Given the description of an element on the screen output the (x, y) to click on. 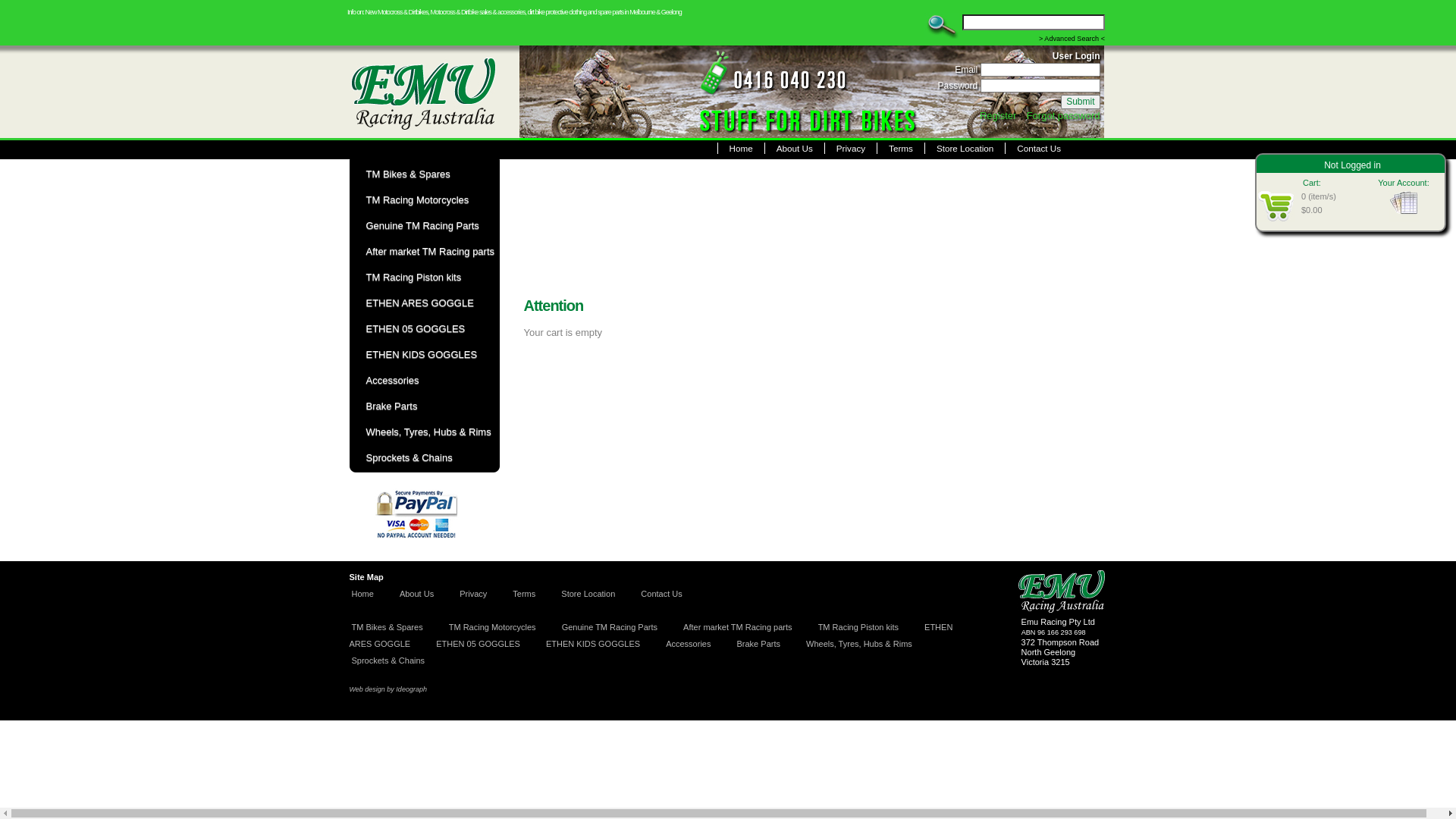
Store Location Element type: text (588, 601)
Sprockets & Chains Element type: text (388, 667)
Accessories Element type: text (422, 380)
Home Element type: text (362, 601)
online accessories and parts for dirt bikes Element type: hover (433, 92)
Wheels, Tyres, Hubs & Rims Element type: text (422, 431)
Accessories Element type: text (687, 651)
Register Element type: text (997, 115)
About Us Element type: text (416, 601)
Genuine TM Racing Parts Element type: text (422, 225)
ETHEN KIDS GOGGLES Element type: text (593, 651)
After market TM Racing parts Element type: text (422, 251)
Store Location Element type: text (964, 147)
Submit Element type: text (1079, 101)
> Advanced Search < Element type: text (1071, 38)
Privacy Element type: text (472, 601)
TM Racing Piston kits Element type: text (858, 634)
About Us Element type: text (794, 147)
ETHEN ARES GOGGLE Element type: text (650, 642)
Contact Us Element type: text (660, 601)
Home Element type: text (740, 147)
ETHEN 05 GOGGLES Element type: text (422, 328)
ETHEN ARES GOGGLE Element type: text (422, 302)
TM Bikes & Spares Element type: text (387, 634)
online accessories and parts for motocross bikes Element type: hover (718, 92)
Brake Parts Element type: text (758, 651)
TM Racing Motorcycles Element type: text (492, 634)
Wheels, Tyres, Hubs & Rims Element type: text (859, 651)
Genuine TM Racing Parts Element type: text (609, 634)
Brake Parts Element type: text (422, 405)
Contact Us Element type: text (1038, 147)
Web design by Ideograph
  Element type: text (387, 705)
TM Racing Piston kits Element type: text (422, 276)
ETHEN KIDS GOGGLES Element type: text (422, 354)
ETHEN 05 GOGGLES Element type: text (478, 651)
Privacy Element type: text (850, 147)
Terms Element type: text (900, 147)
TM Racing Motorcycles Element type: text (422, 199)
Sprockets & Chains Element type: text (422, 457)
TM Bikes & Spares Element type: text (422, 173)
Forgot password Element type: text (1063, 115)
Terms Element type: text (523, 601)
After market TM Racing parts Element type: text (737, 634)
